Given the description of an element on the screen output the (x, y) to click on. 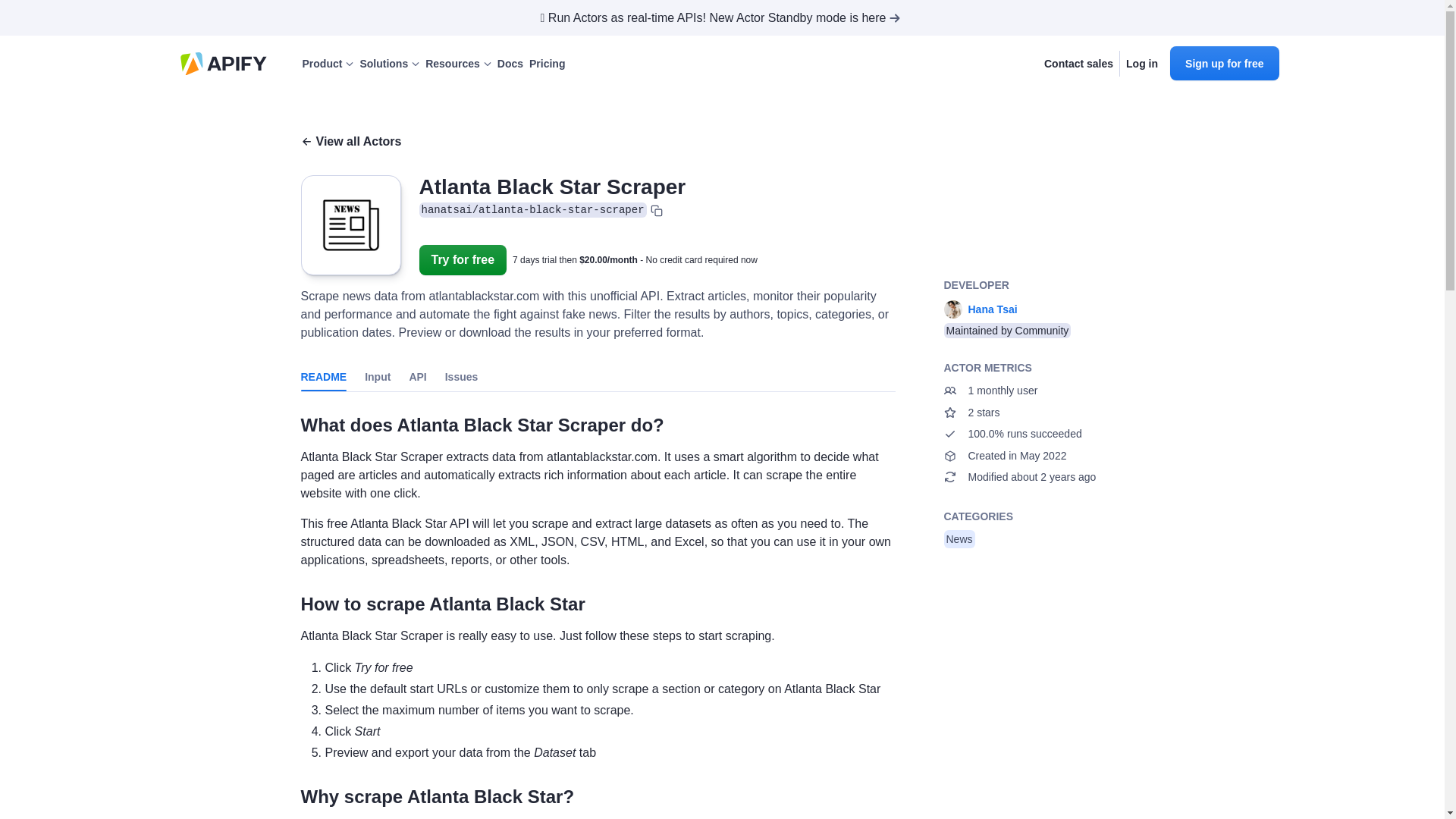
Pricing (546, 63)
Log in (1141, 63)
Sign up for free (1224, 62)
Docs (509, 63)
Contact sales (1078, 63)
Solutions (389, 63)
Resources (458, 63)
Product (327, 63)
